Given the description of an element on the screen output the (x, y) to click on. 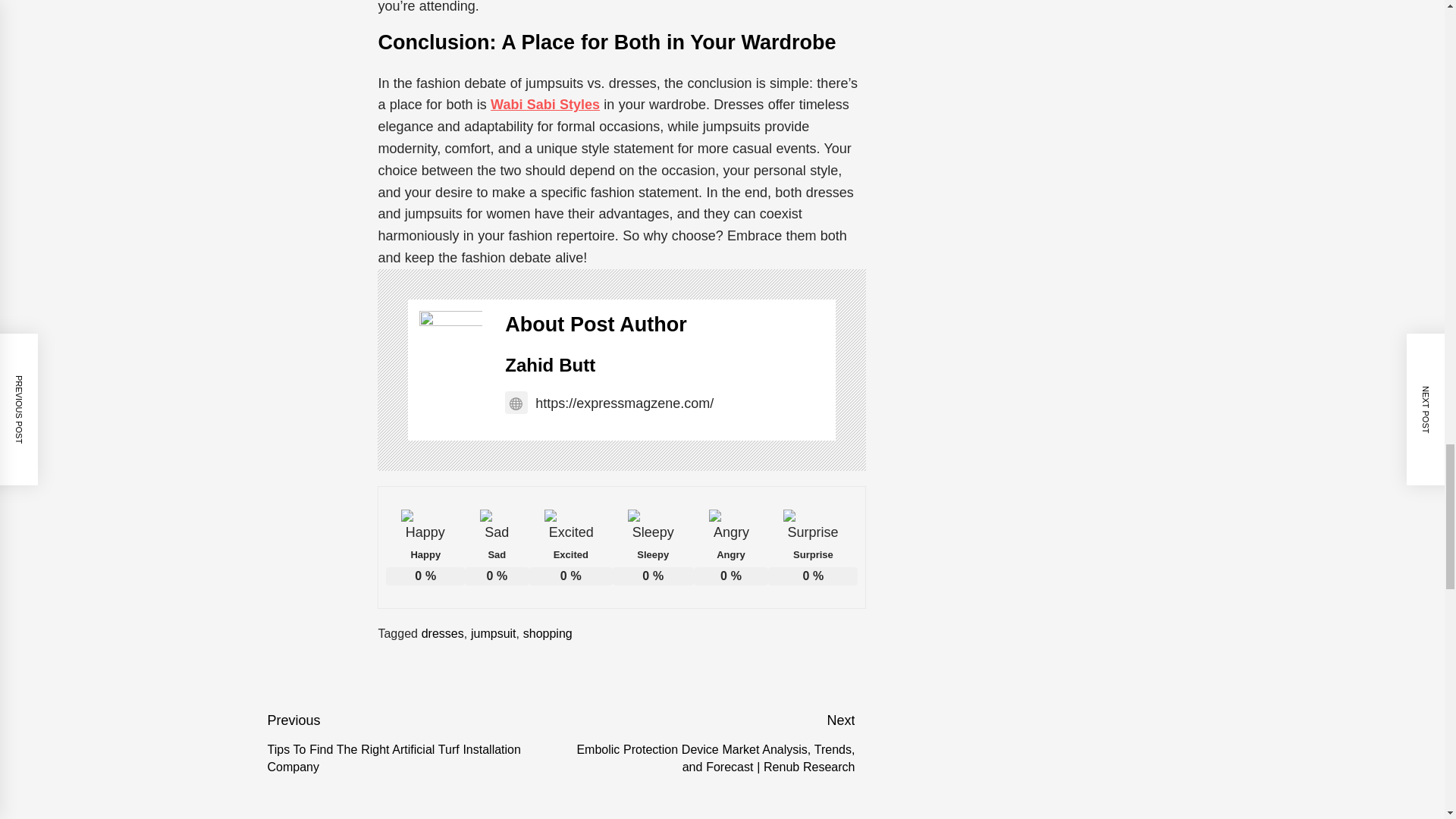
Wabi Sabi Styles (544, 104)
dresses (443, 632)
Zahid Butt (550, 364)
shopping (547, 632)
jumpsuit (493, 632)
